Given the description of an element on the screen output the (x, y) to click on. 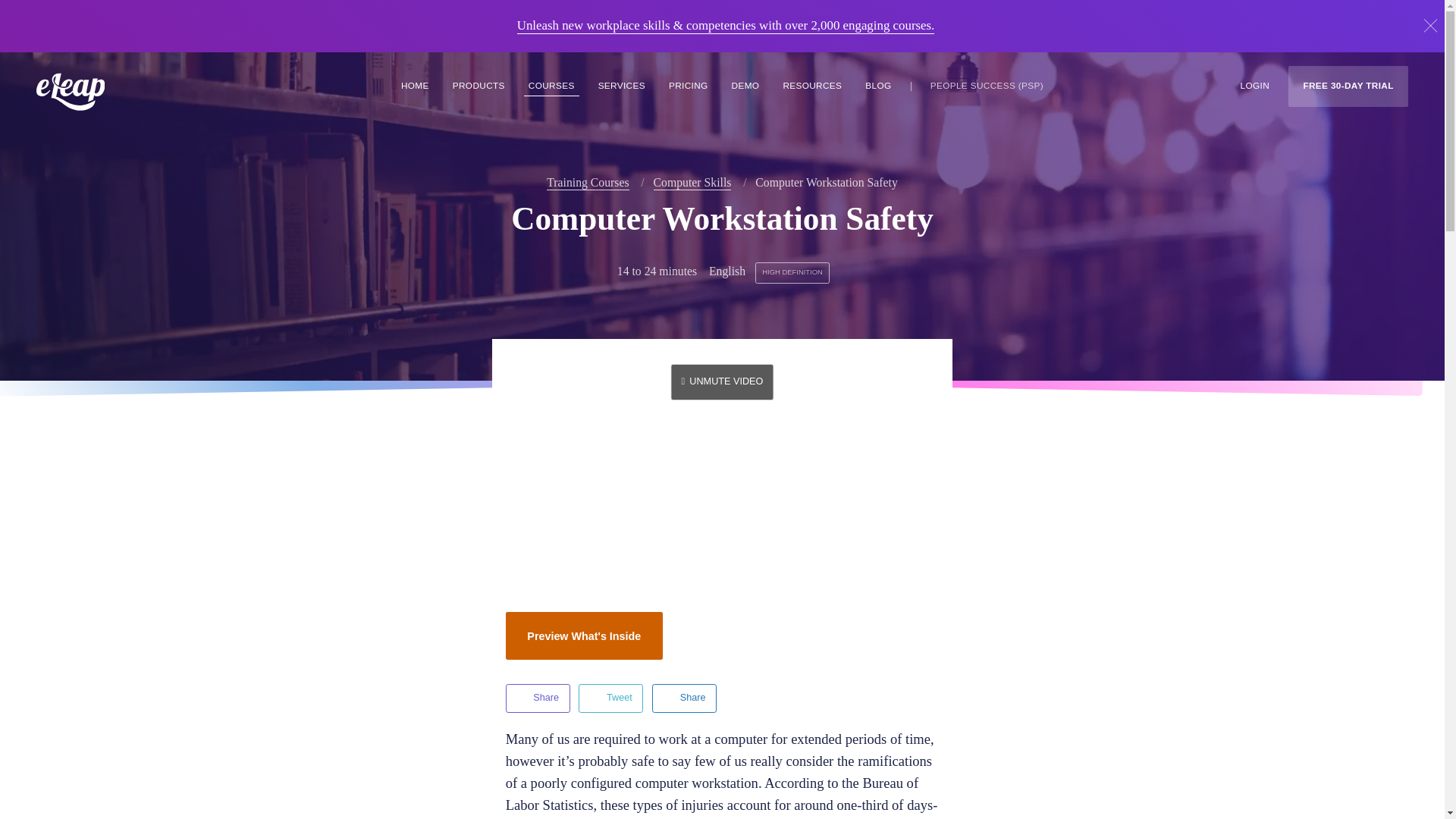
Training Courses (587, 183)
LOGIN (1255, 85)
UNMUTE VIDEO (722, 381)
Computer Skills (692, 183)
PRODUCTS (478, 85)
SERVICES (621, 85)
Preview What's Inside (583, 635)
BLOG (877, 85)
DEMO (745, 85)
Share (537, 697)
Dismiss (1430, 26)
Share (684, 697)
Tweet (610, 697)
RESOURCES (811, 85)
PRICING (687, 85)
